Given the description of an element on the screen output the (x, y) to click on. 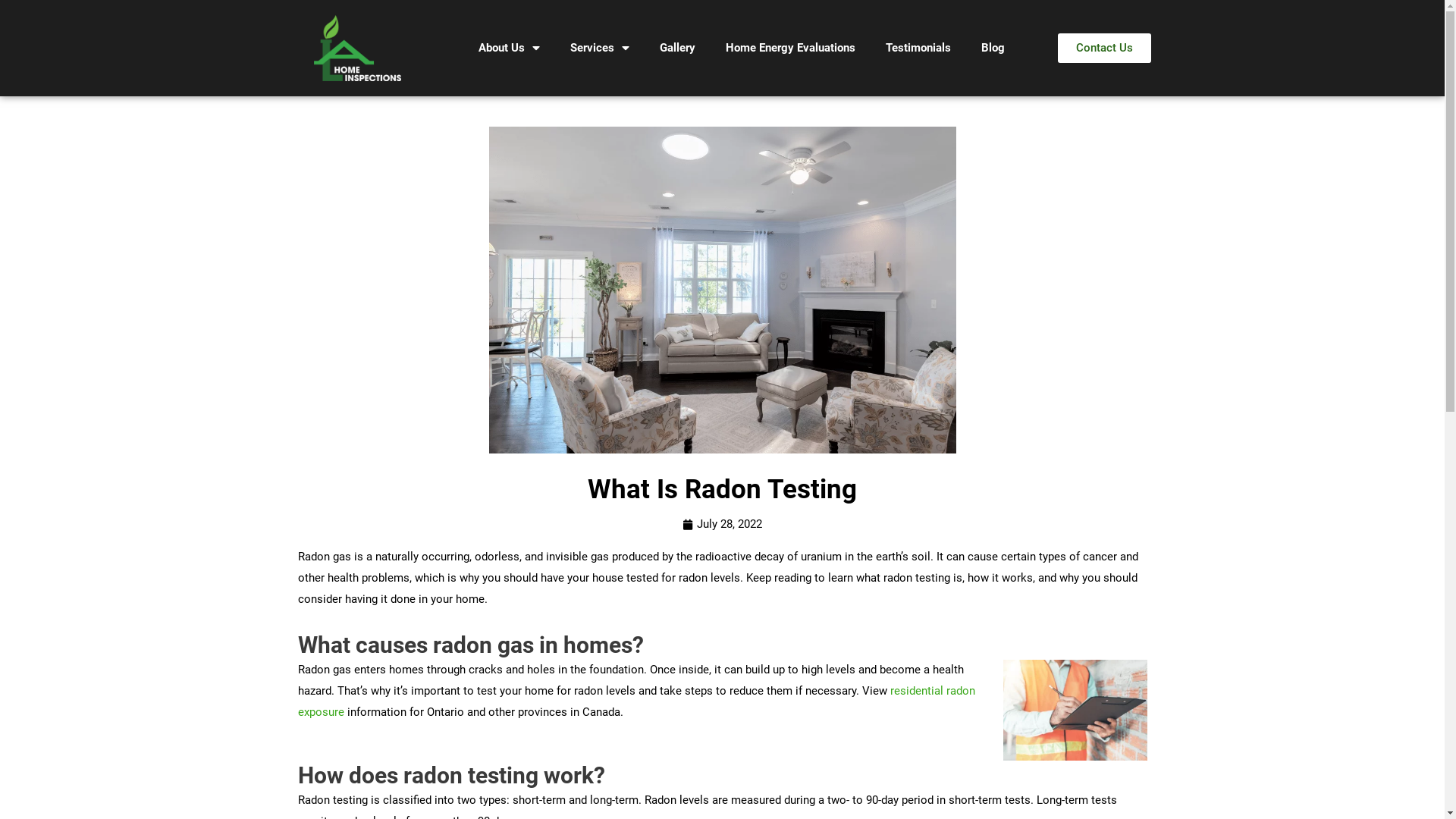
residential radon exposure Element type: text (635, 701)
Gallery Element type: text (677, 48)
Contact Us Element type: text (1104, 47)
Home Energy Evaluations Element type: text (790, 48)
Blog Element type: text (992, 48)
About Us Element type: text (509, 48)
Services Element type: text (599, 48)
July 28, 2022 Element type: text (722, 524)
Testimonials Element type: text (918, 48)
